Given the description of an element on the screen output the (x, y) to click on. 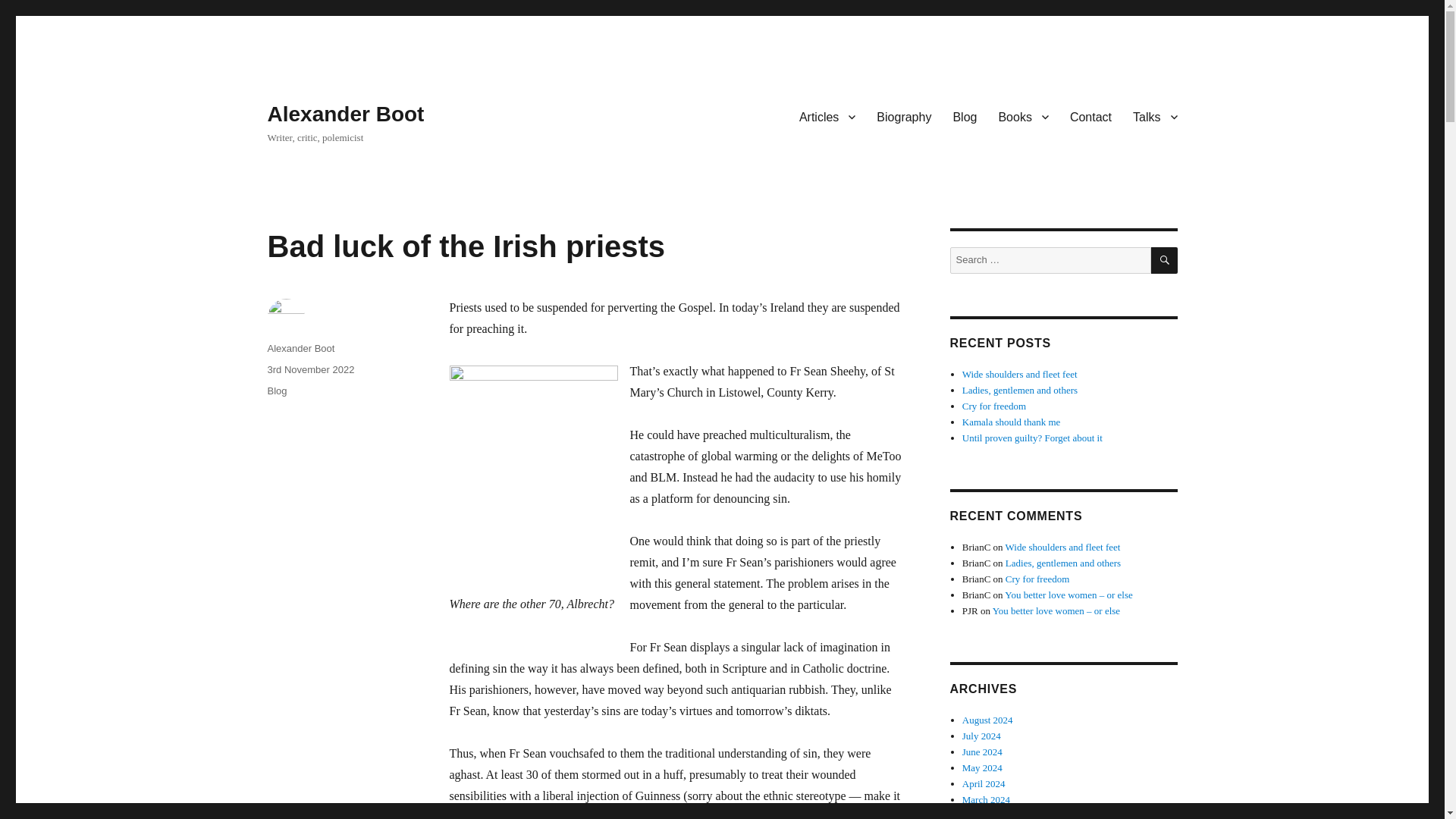
3rd November 2022 (309, 369)
Talks (1155, 116)
Contact (1090, 116)
Articles (827, 116)
Biography (904, 116)
Search for: (1049, 260)
Blog (276, 390)
Blog (964, 116)
Books (1022, 116)
Alexander Boot (300, 348)
